Given the description of an element on the screen output the (x, y) to click on. 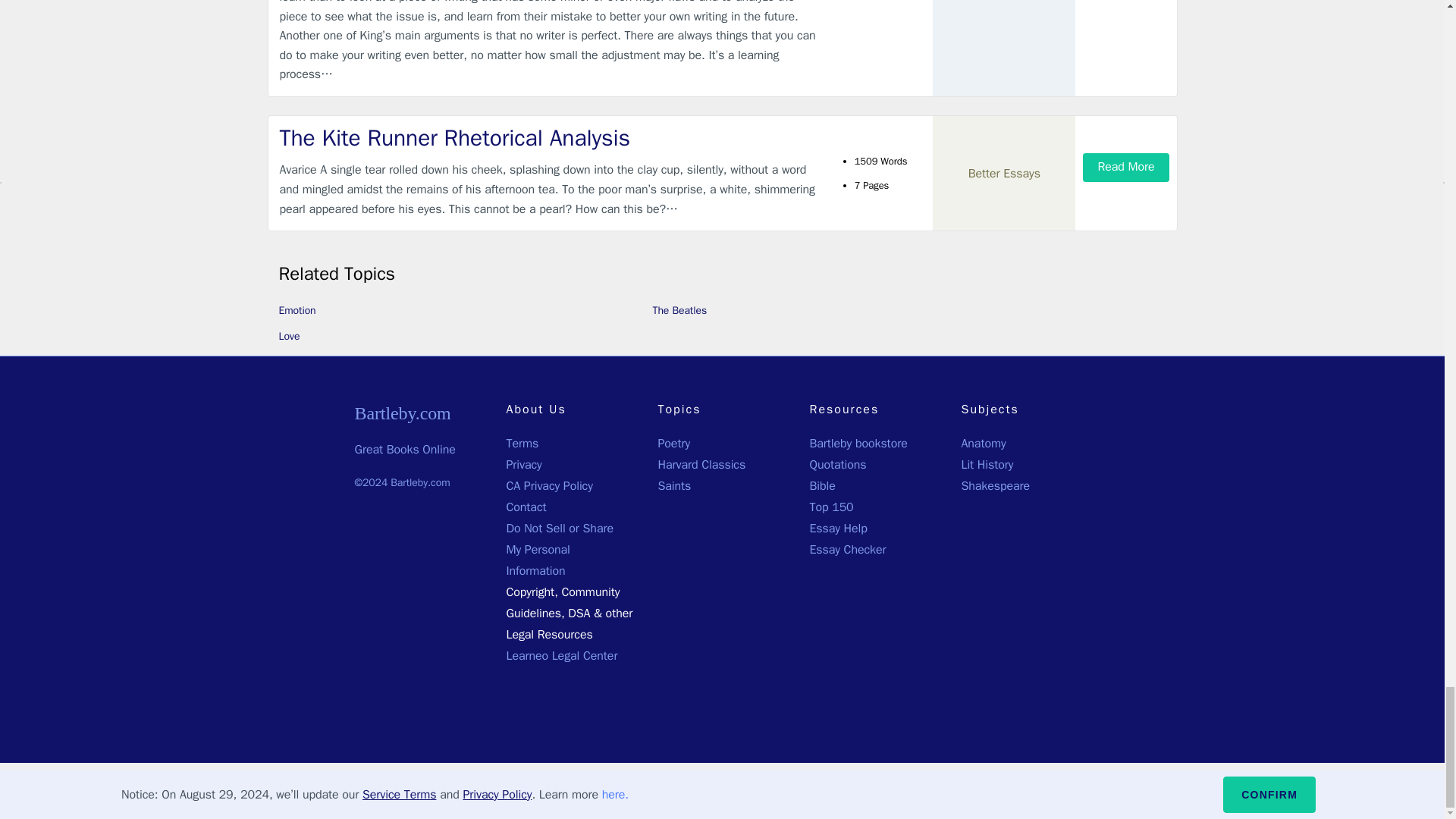
Love (289, 336)
The Beatles (679, 309)
Emotion (297, 309)
